Given the description of an element on the screen output the (x, y) to click on. 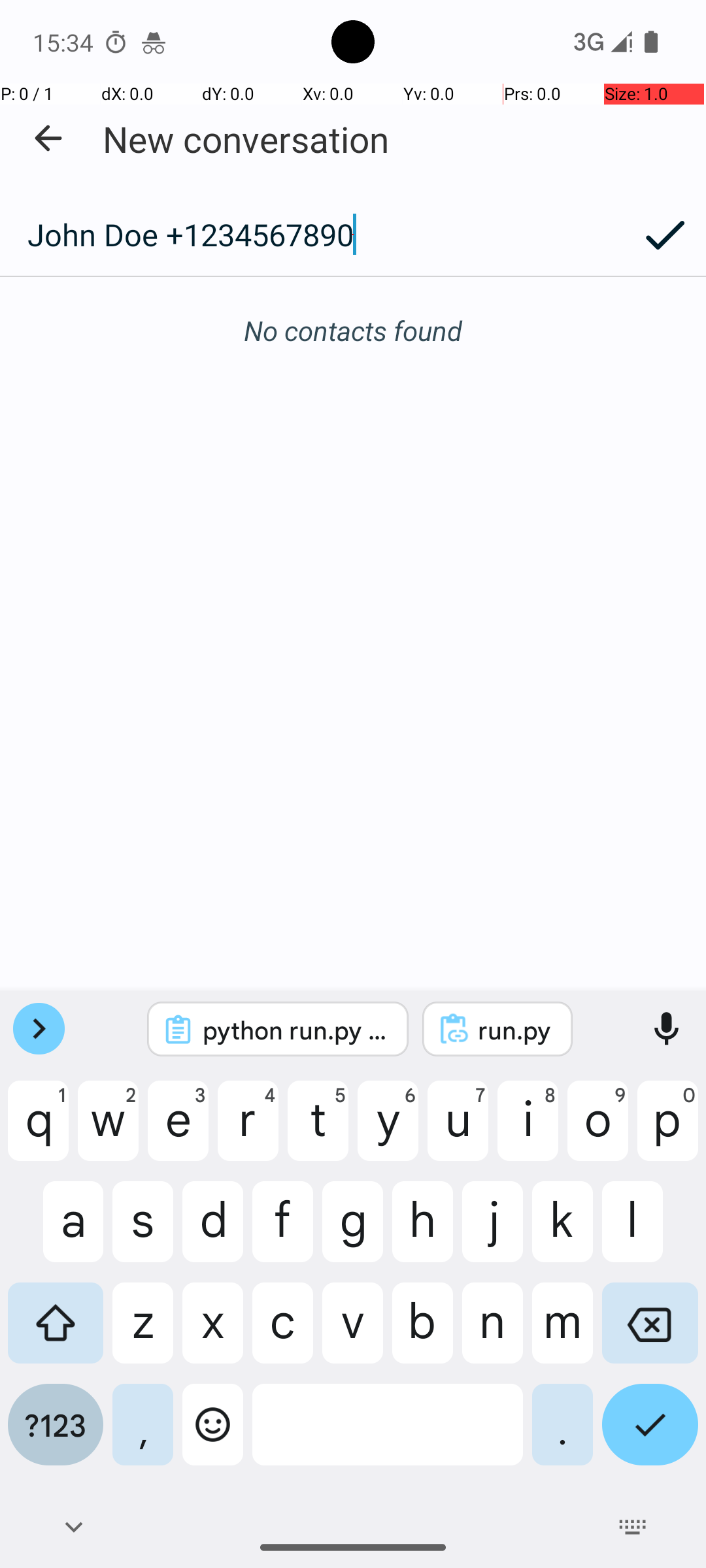
John Doe +1234567890 Element type: android.widget.EditText (311, 234)
